Given the description of an element on the screen output the (x, y) to click on. 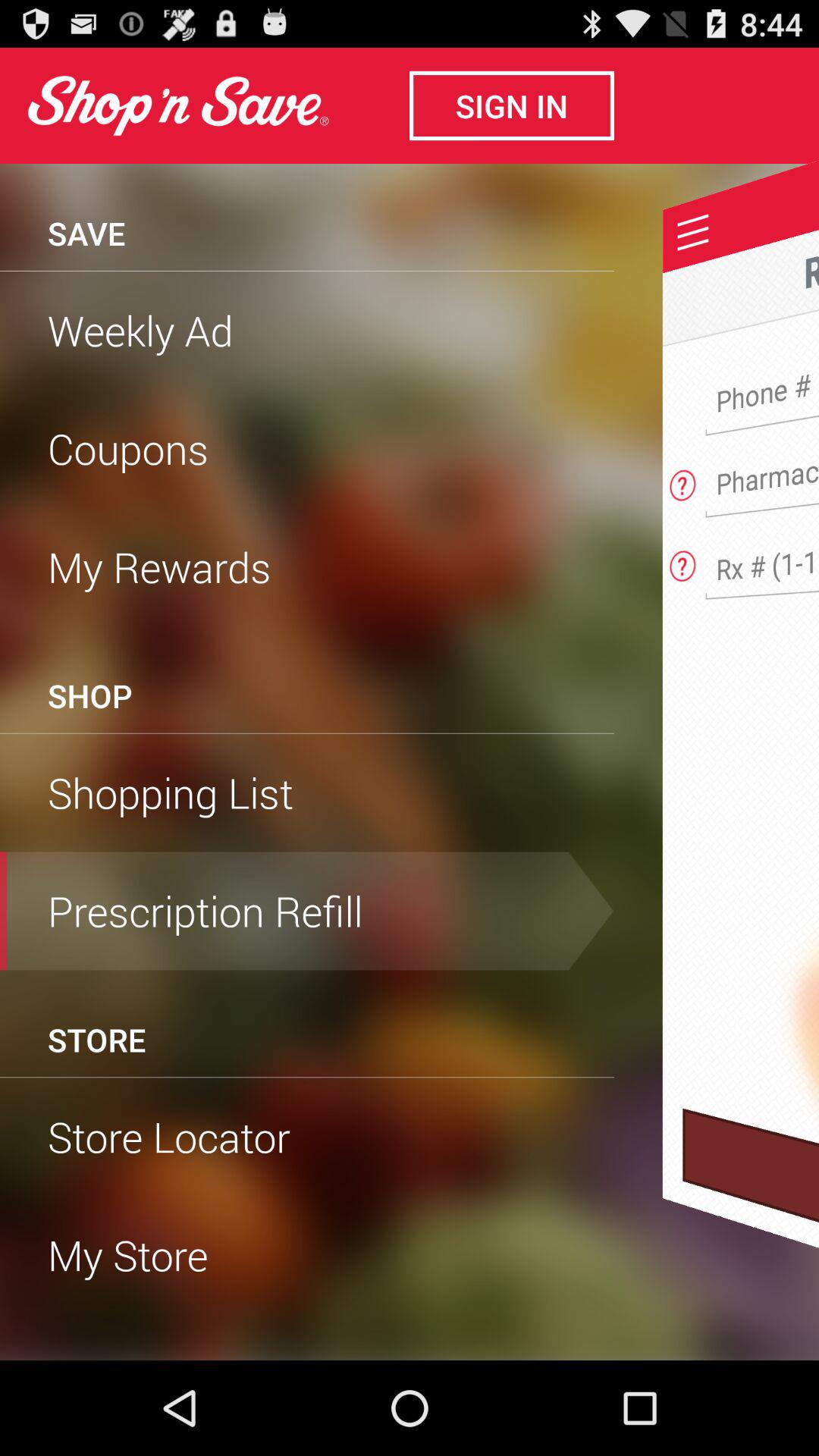
prescription number for refill (767, 559)
